Given the description of an element on the screen output the (x, y) to click on. 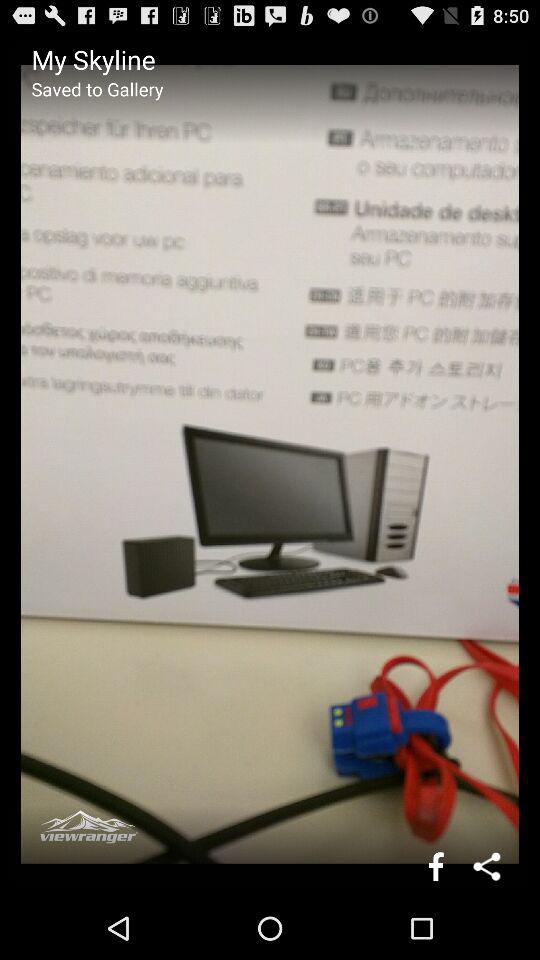
share to facebook (436, 866)
